Given the description of an element on the screen output the (x, y) to click on. 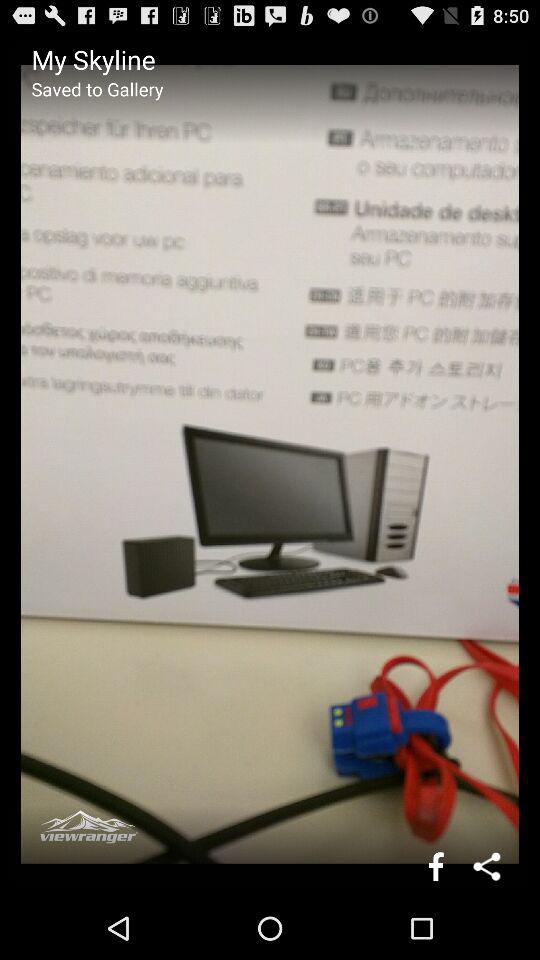
share to facebook (436, 866)
